Given the description of an element on the screen output the (x, y) to click on. 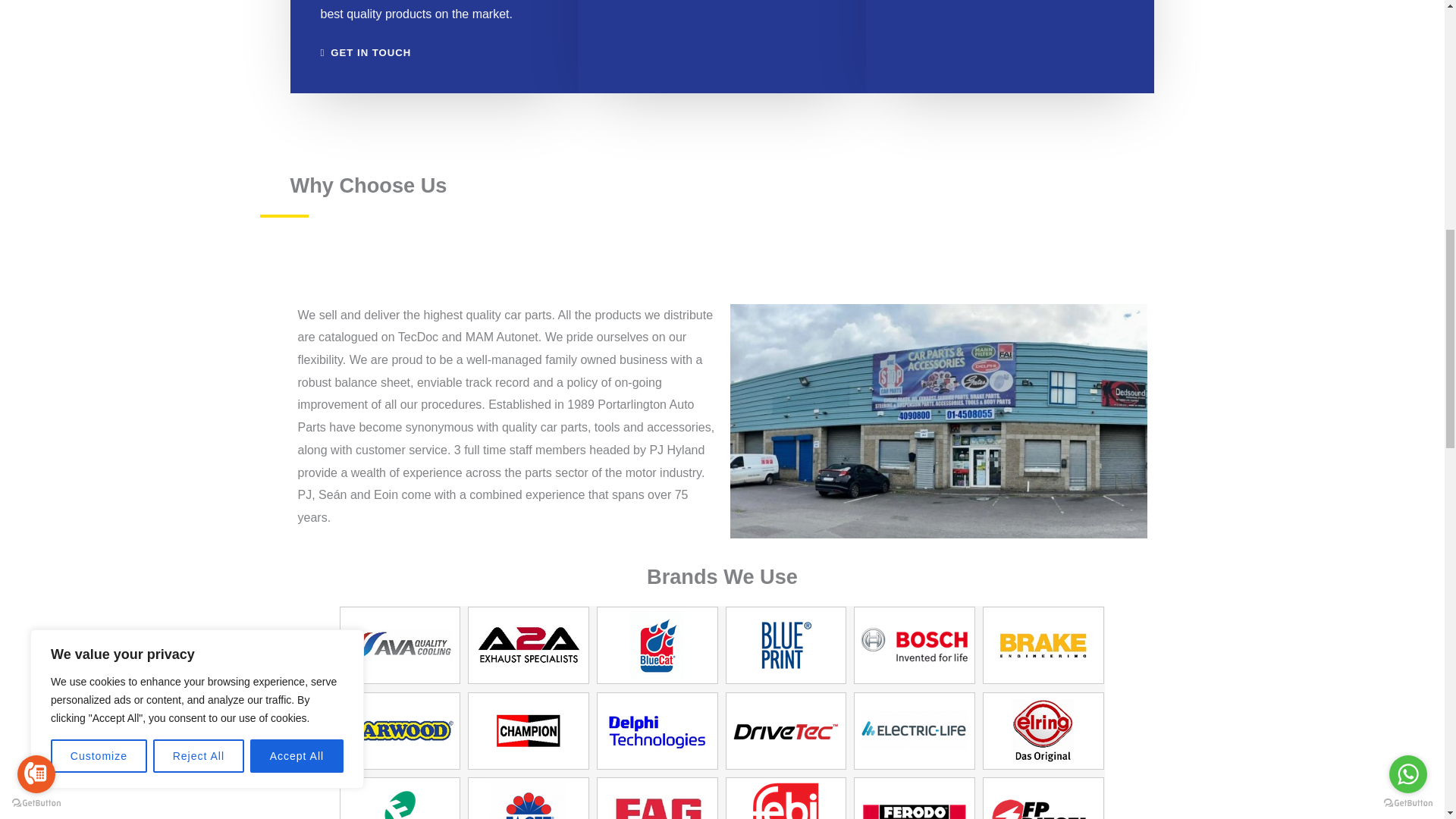
GET IN TOUCH (365, 52)
